Given the description of an element on the screen output the (x, y) to click on. 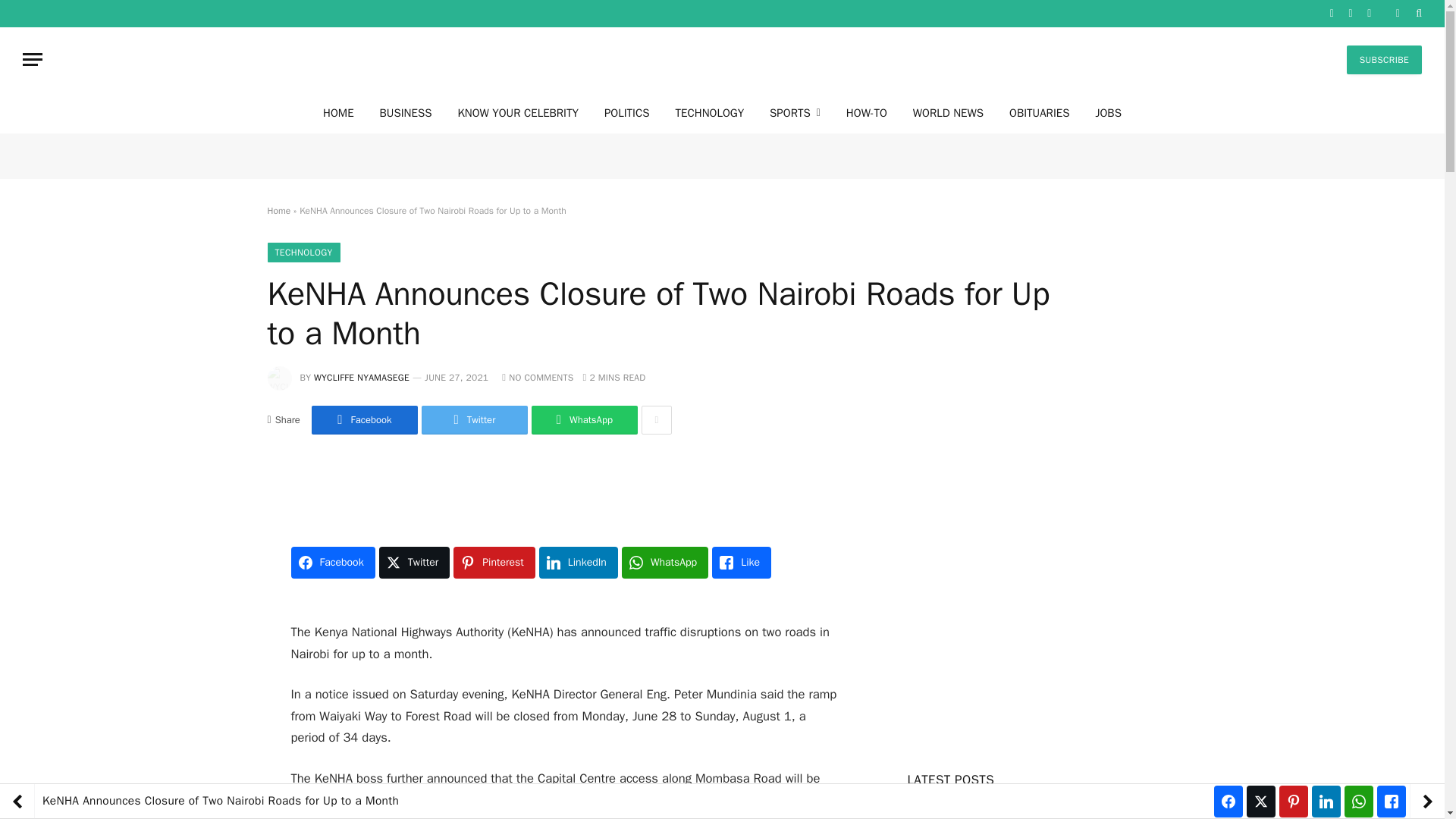
JOBS (1107, 112)
POLITICS (626, 112)
OBITUARIES (1038, 112)
Share on WhatsApp (584, 419)
HOME (338, 112)
WORLD NEWS (947, 112)
WYCLIFFE NYAMASEGE (361, 377)
SUBSCRIBE (1384, 59)
Posts by Wycliffe Nyamasege (361, 377)
KNOW YOUR CELEBRITY (517, 112)
